Given the description of an element on the screen output the (x, y) to click on. 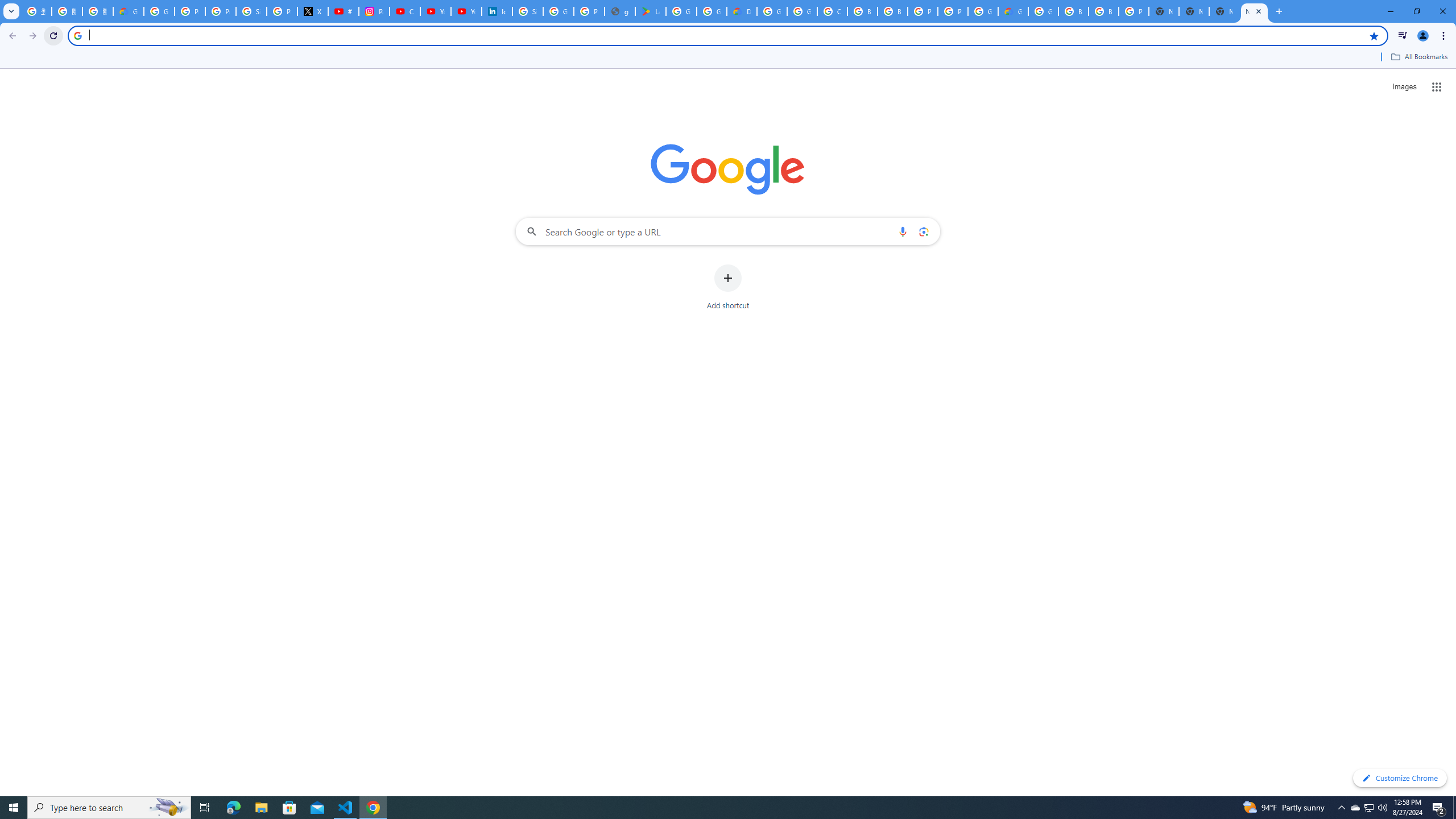
Search Google or type a URL (727, 230)
Bookmarks (728, 58)
New Tab (1254, 11)
